Given the description of an element on the screen output the (x, y) to click on. 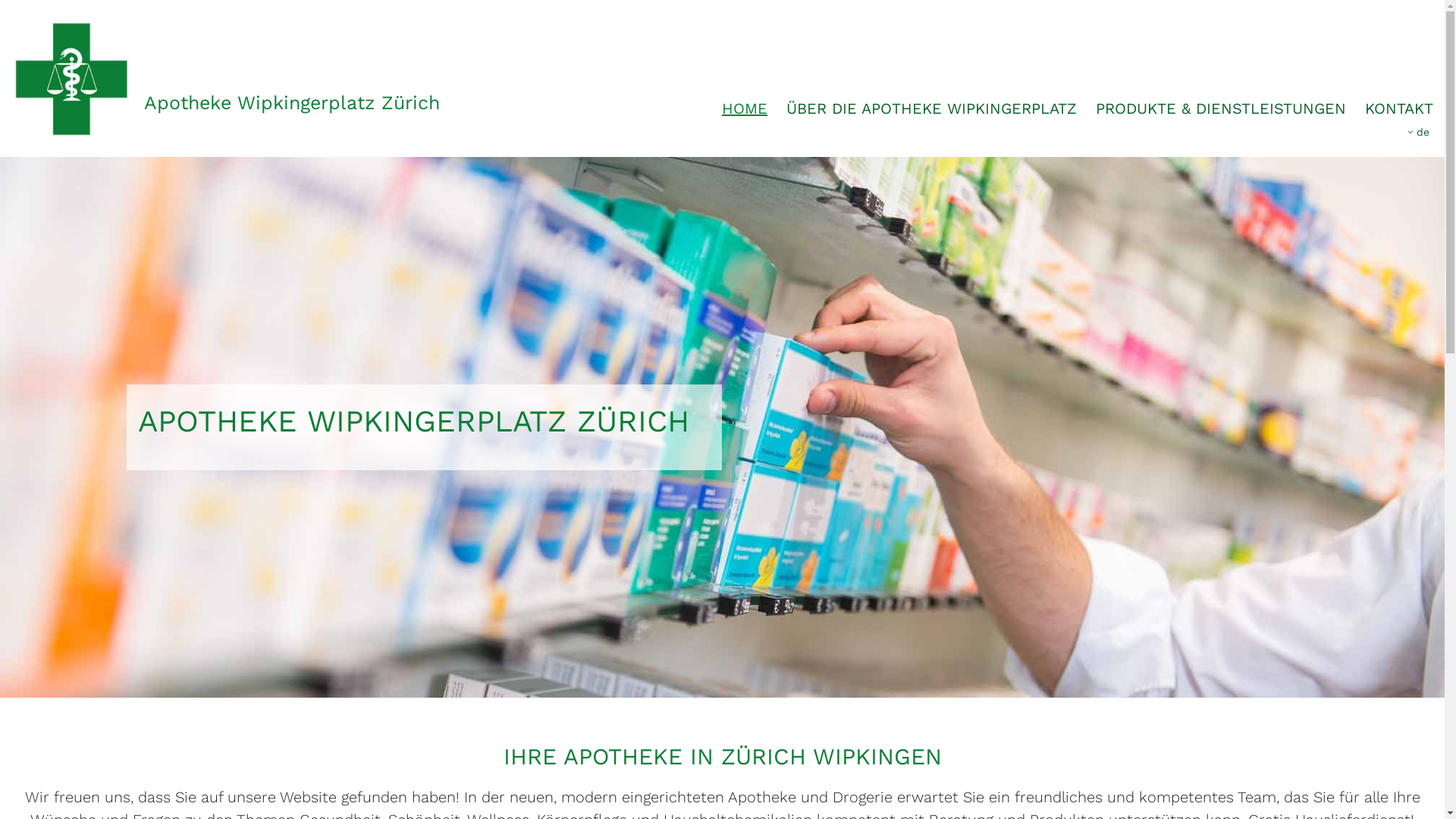
PRODUKTE & DIENSTLEISTUNGEN Element type: text (1220, 108)
KONTAKT Element type: text (1399, 108)
HOME Element type: text (744, 108)
de Element type: text (1418, 131)
